Given the description of an element on the screen output the (x, y) to click on. 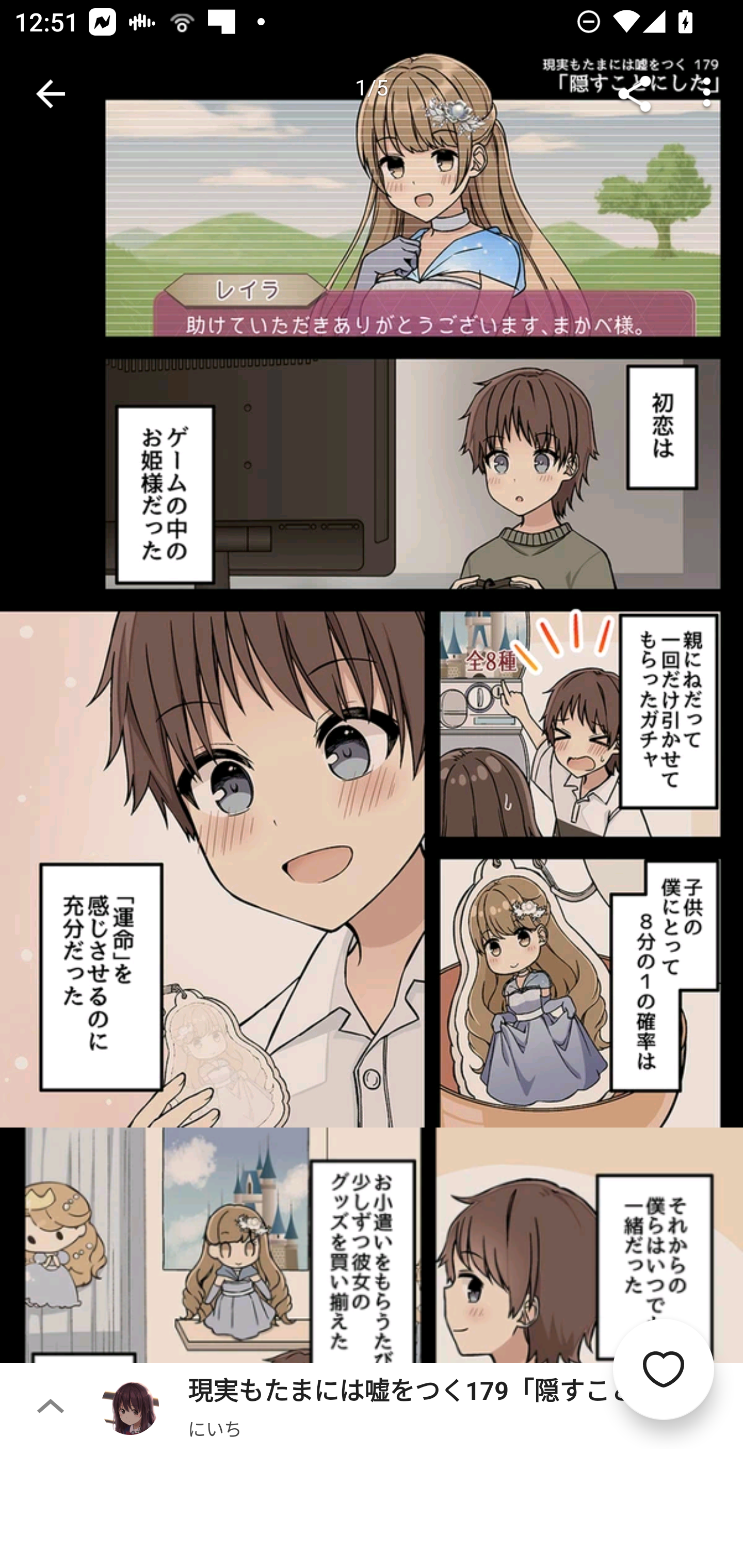
Share (634, 93)
More options (706, 93)
現実もたまには嘘をつく179「隠すことにした」 にいち (422, 1405)
にいち (214, 1427)
